Given the description of an element on the screen output the (x, y) to click on. 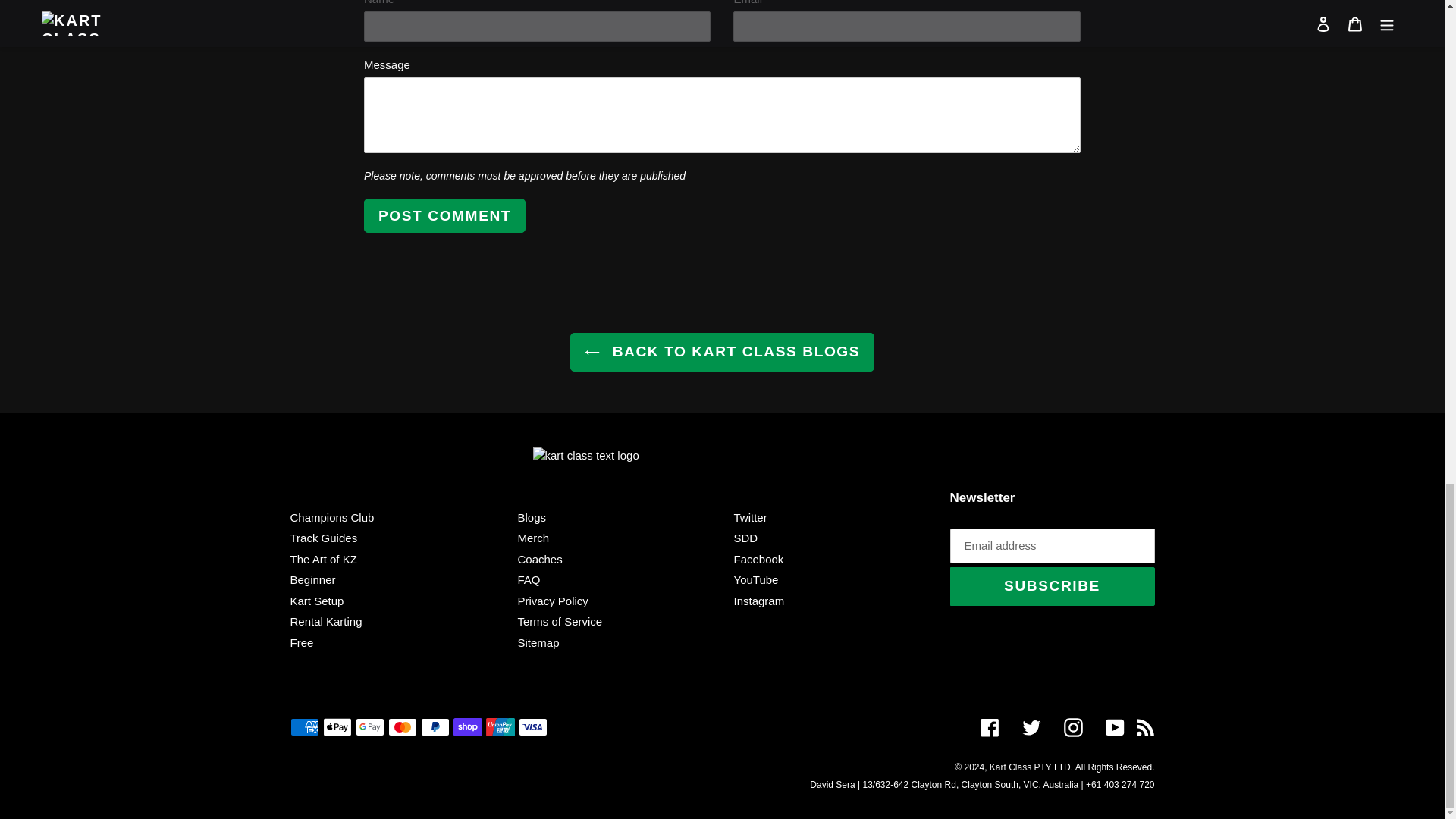
Shop Pay (466, 727)
Mastercard (402, 727)
Track Guides (322, 537)
Union Pay (498, 727)
Post comment (444, 215)
Post comment (444, 215)
Apple Pay (337, 727)
Champions Club (331, 517)
American Express (303, 727)
BACK TO KART CLASS BLOGS (722, 351)
